Given the description of an element on the screen output the (x, y) to click on. 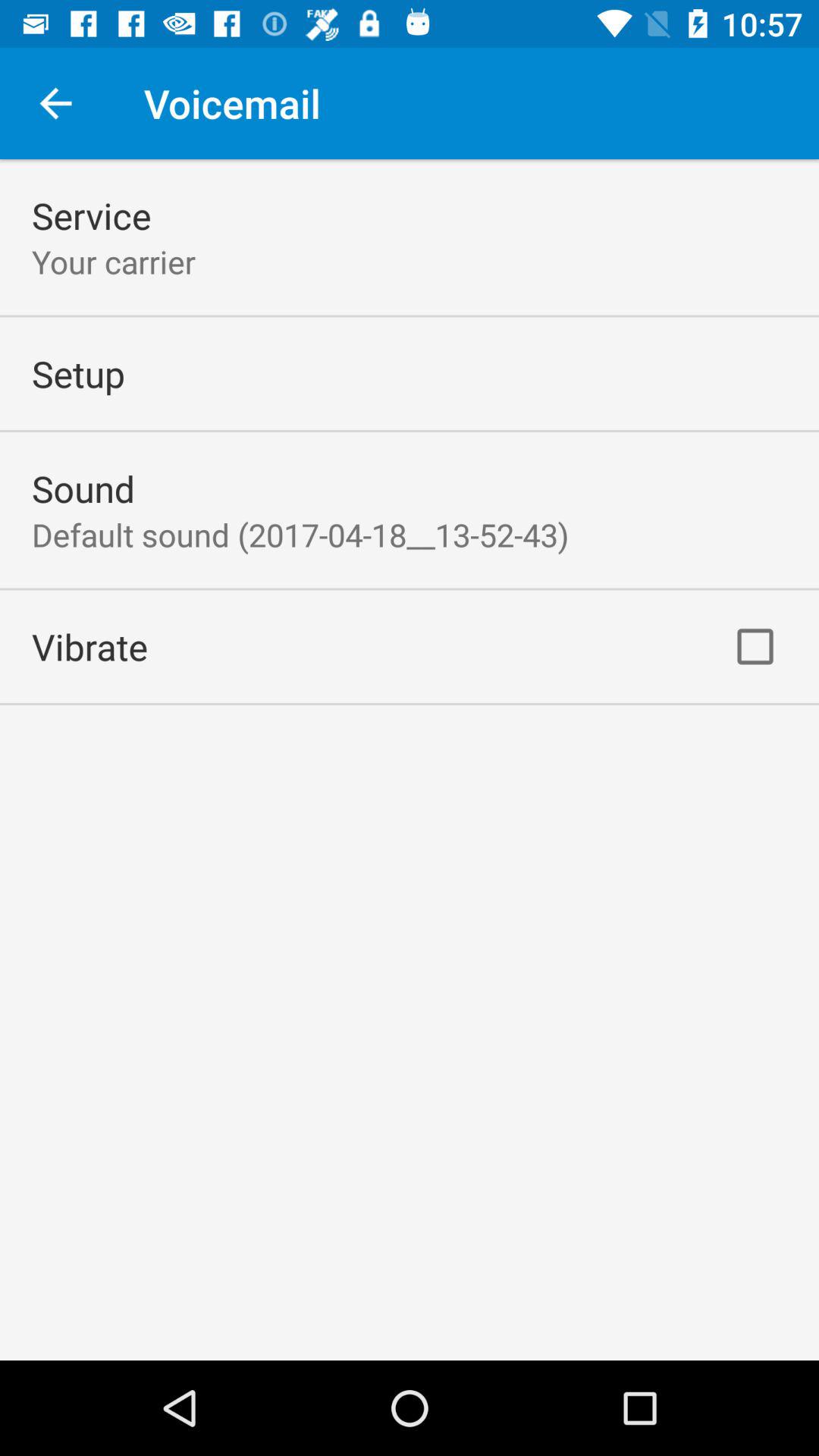
press the icon above setup (113, 261)
